Given the description of an element on the screen output the (x, y) to click on. 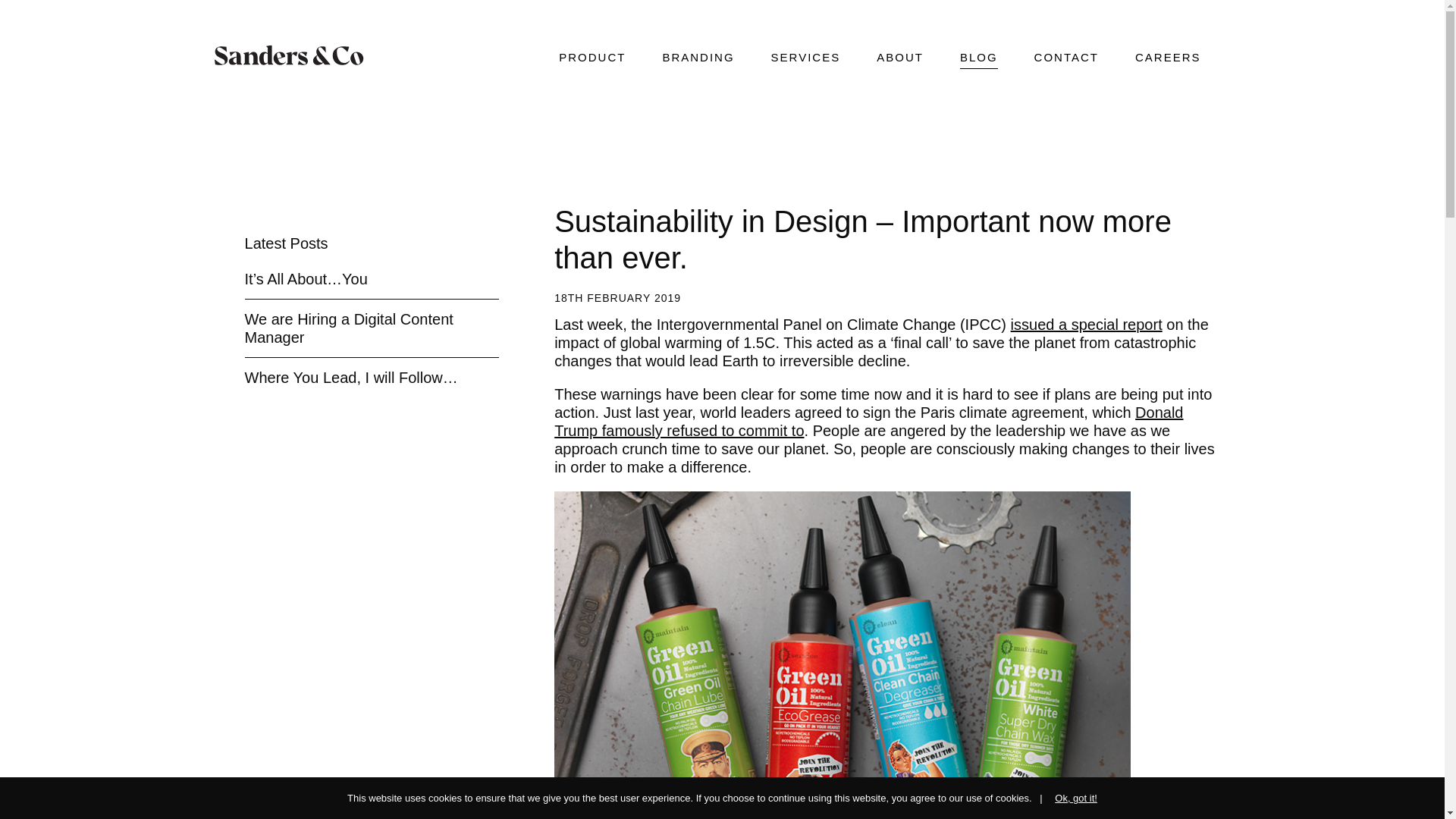
BLOG (978, 59)
Sanders (291, 55)
CAREERS (1168, 59)
We are Hiring a Digital Content Manager (348, 328)
PRODUCT (592, 59)
BRANDING (697, 59)
ABOUT (899, 59)
SERVICES (806, 59)
issued a special report (1085, 324)
Ok, got it! (1068, 797)
CONTACT (1066, 59)
View - We are Hiring a Digital Content Manager (348, 328)
Donald Trump famously refused to commit to (868, 421)
